Given the description of an element on the screen output the (x, y) to click on. 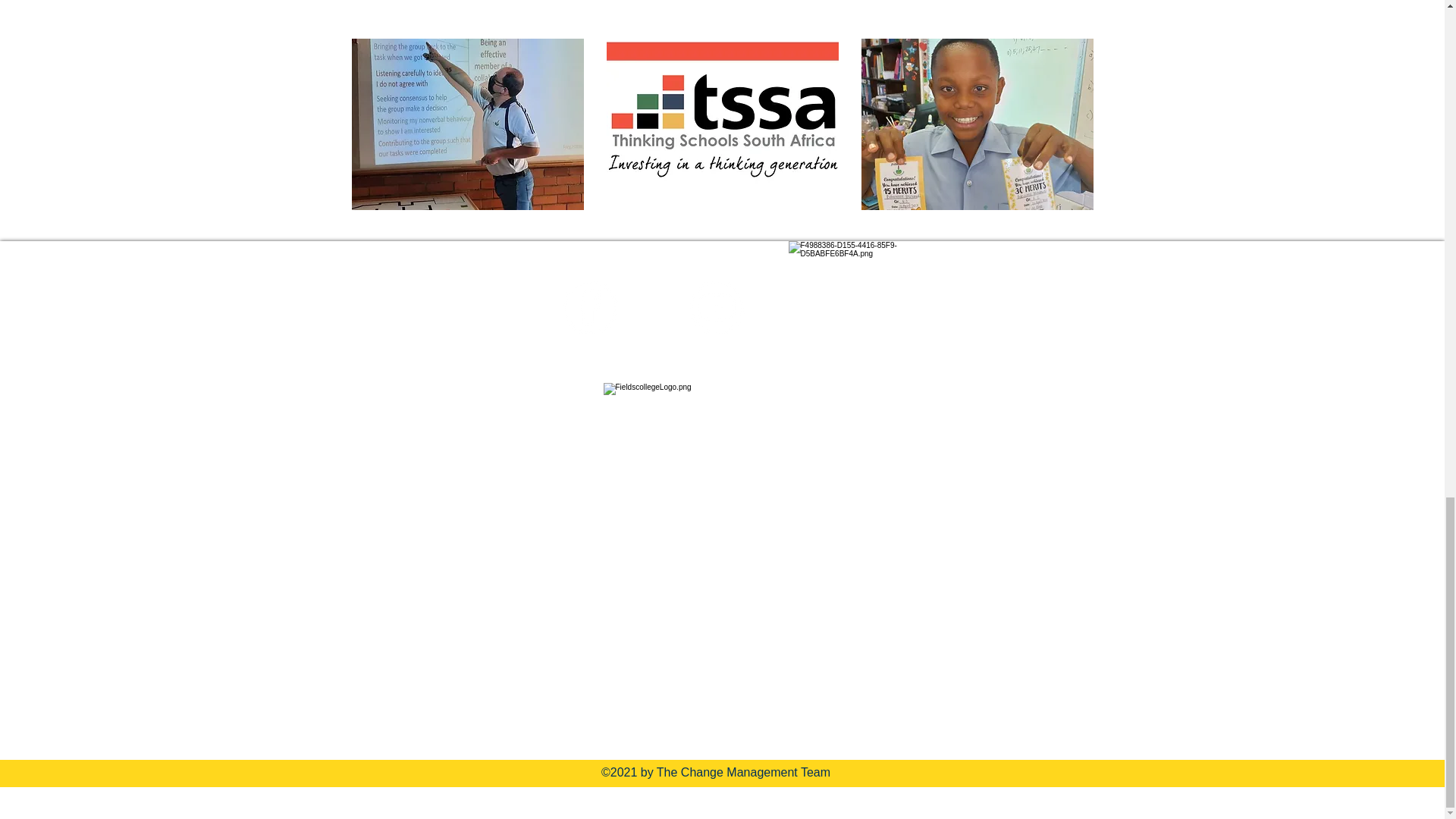
High School (294, 519)
School Fees (294, 403)
Primary School (304, 480)
The Change Management Team (742, 771)
Quick Links (319, 369)
Applications (295, 441)
